Given the description of an element on the screen output the (x, y) to click on. 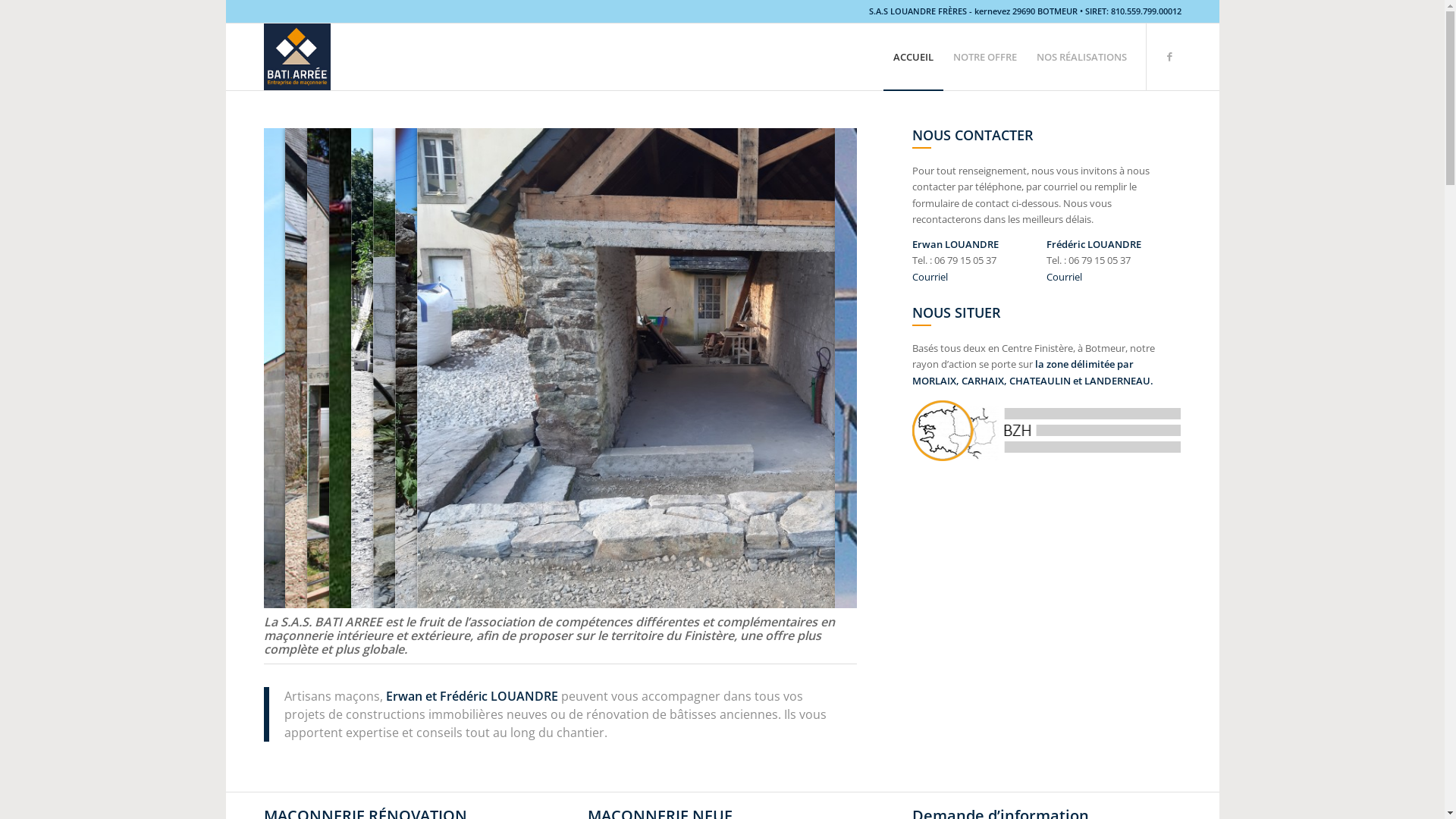
NOTRE OFFRE Element type: text (984, 56)
ACCUEIL Element type: text (912, 56)
Courriel Element type: text (1064, 276)
Facebook Element type: hover (1169, 55)
Courriel Element type: text (929, 276)
